Given the description of an element on the screen output the (x, y) to click on. 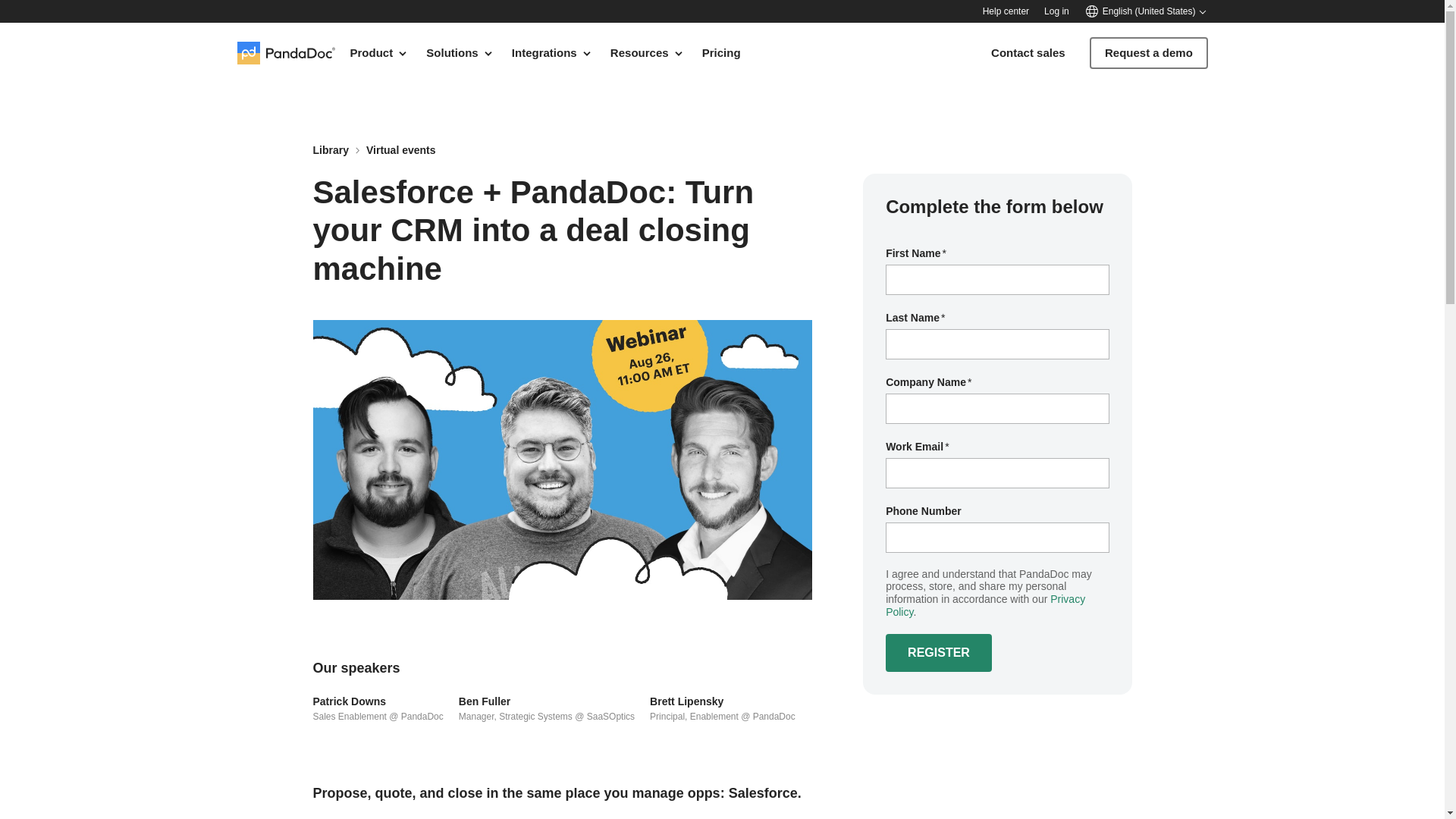
Product (379, 52)
Log in (1055, 11)
REGISTER (938, 652)
Help center (1005, 11)
Solutions (459, 52)
